Given the description of an element on the screen output the (x, y) to click on. 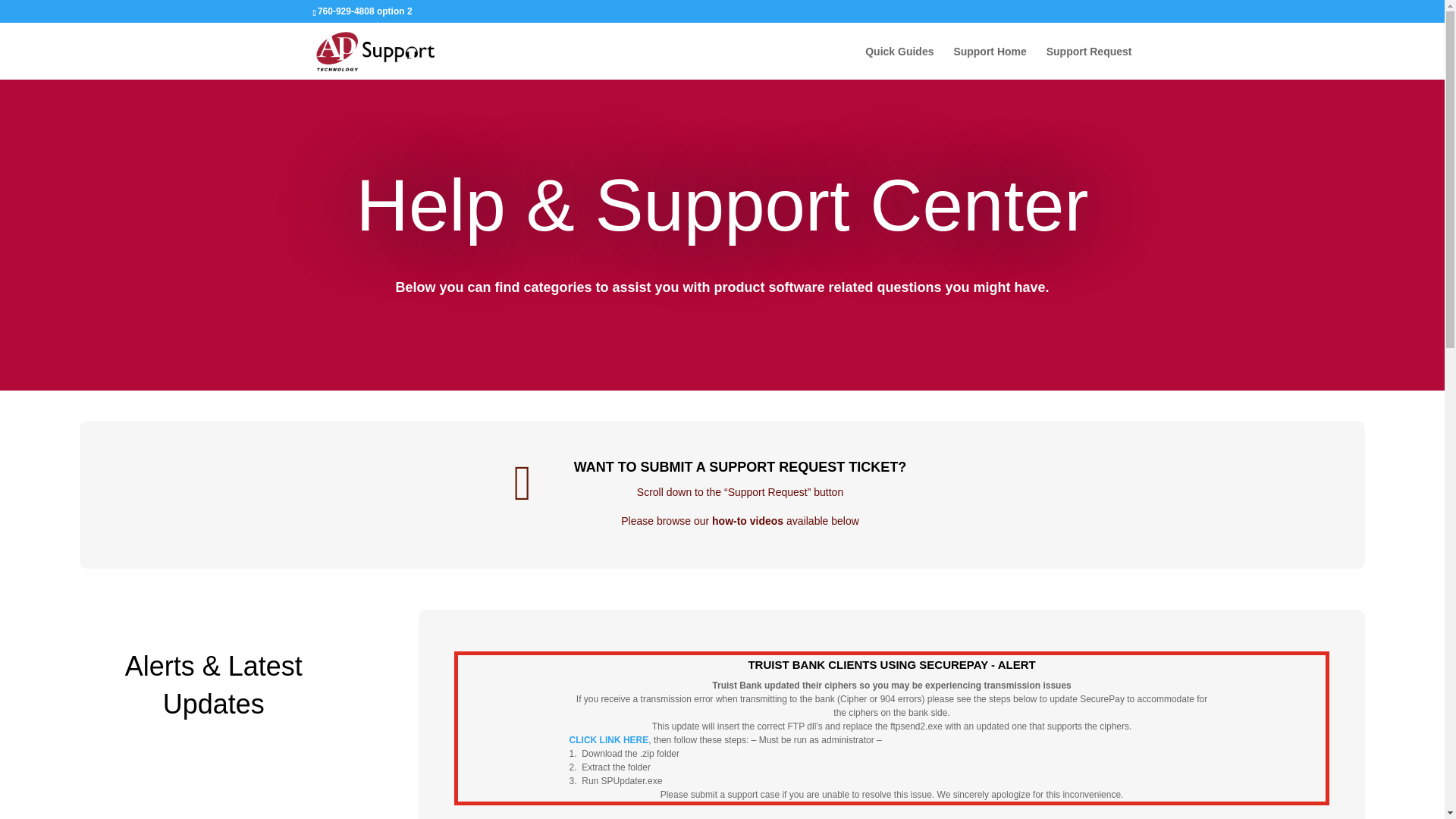
Support Request (1089, 62)
Quick Guides (898, 62)
Support Home (989, 62)
CLICK LINK HERE (609, 739)
